Given the description of an element on the screen output the (x, y) to click on. 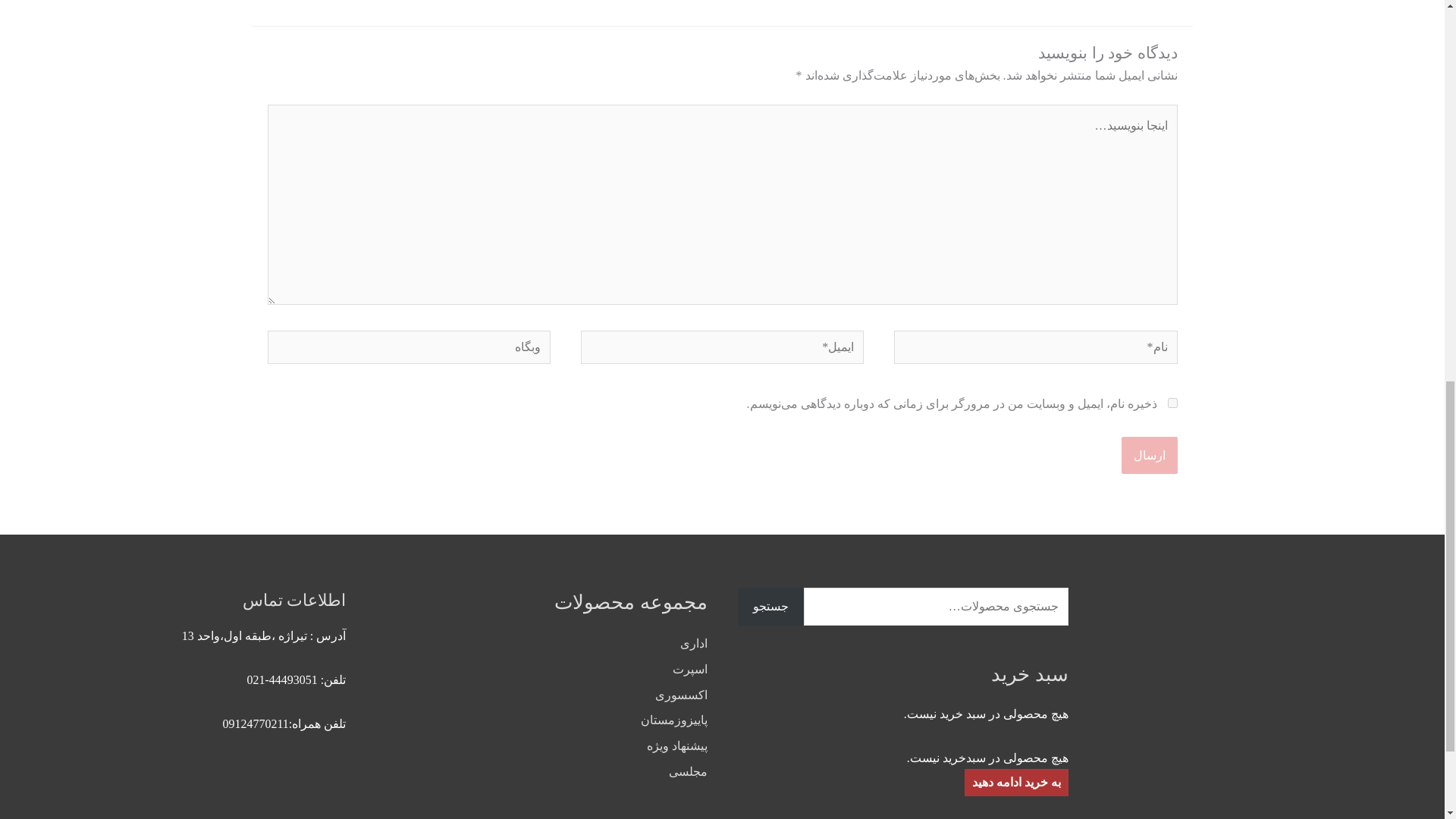
yes (1172, 402)
